Given the description of an element on the screen output the (x, y) to click on. 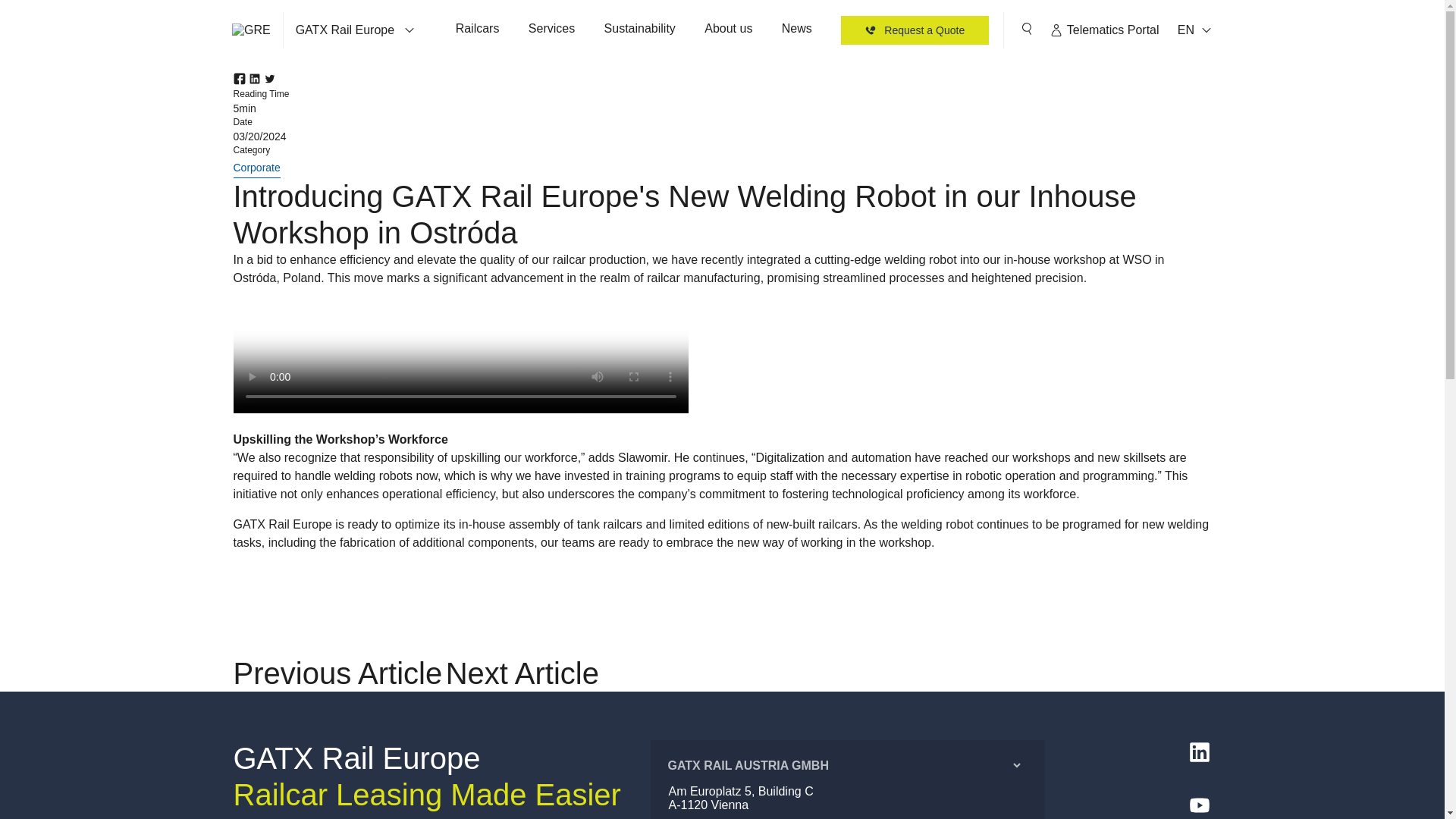
Sustainability (639, 30)
Services (551, 30)
About us (728, 30)
News (797, 30)
Railcars (477, 30)
